Given the description of an element on the screen output the (x, y) to click on. 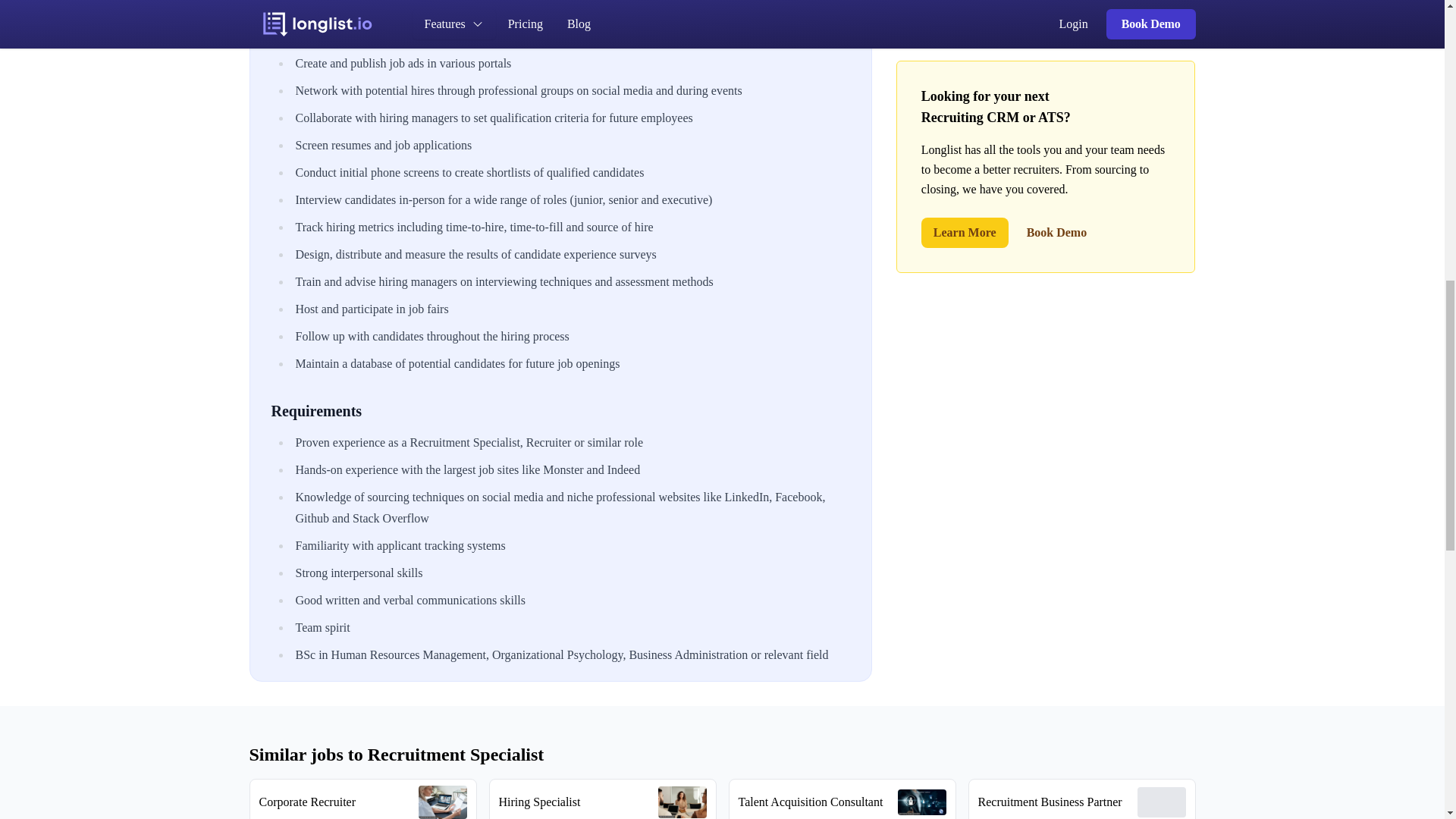
Talent Acquisition Consultant (841, 798)
Corporate Recruiter (362, 798)
Talent Acquisition Consultant job description (841, 798)
Corporate Recruiter job description (362, 798)
Recruitment Business Partner job description (1081, 798)
Hiring Specialist job description (601, 798)
Hiring Specialist (601, 798)
Recruitment Business Partner (1081, 798)
